Given the description of an element on the screen output the (x, y) to click on. 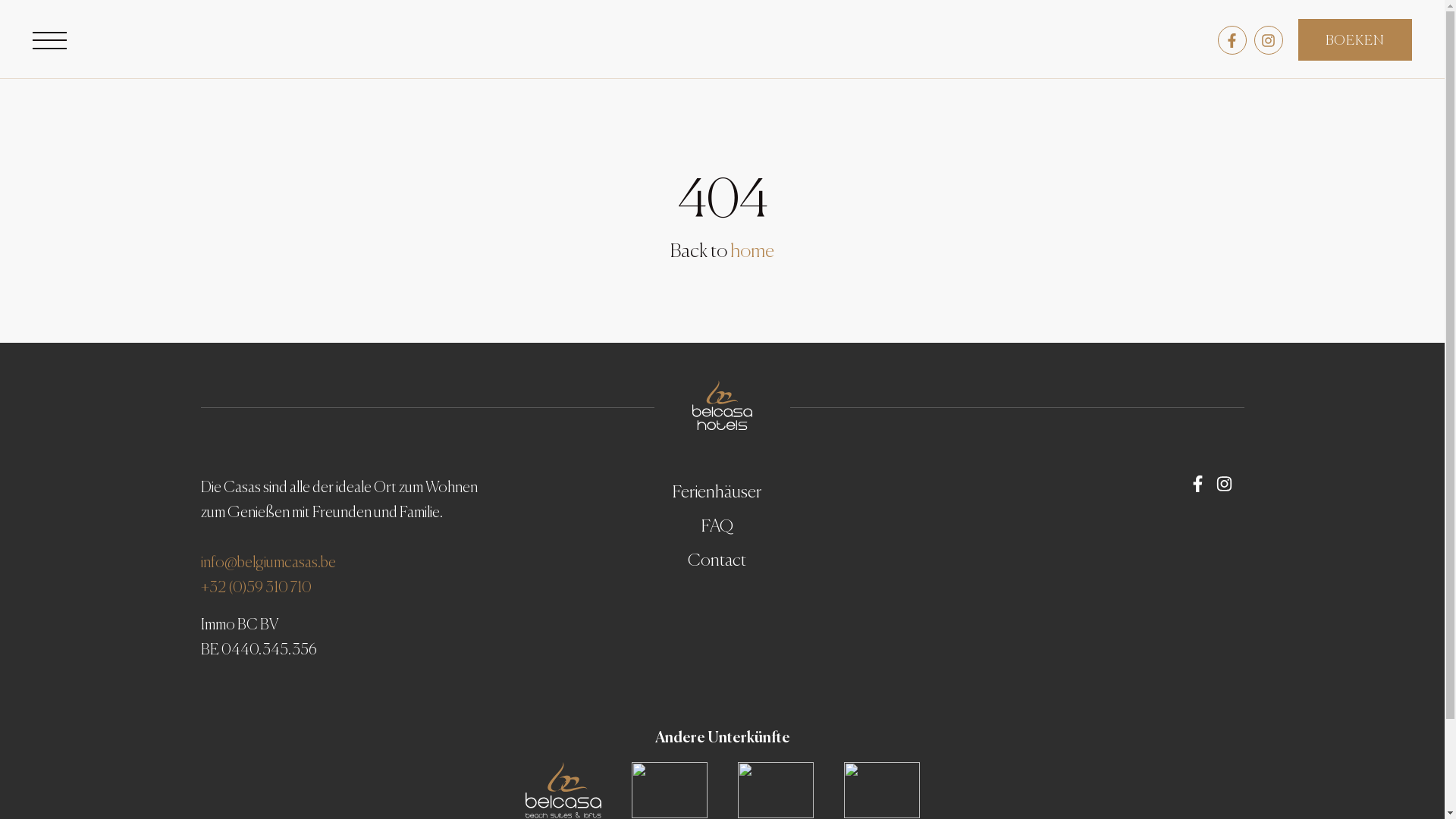
Contact Element type: text (716, 560)
+32 (0)59 310 710 Element type: text (255, 588)
FAQ Element type: text (717, 526)
BOEKEN Element type: text (1355, 39)
info@belgiumcasas.be Element type: text (267, 563)
home Element type: text (752, 251)
